Given the description of an element on the screen output the (x, y) to click on. 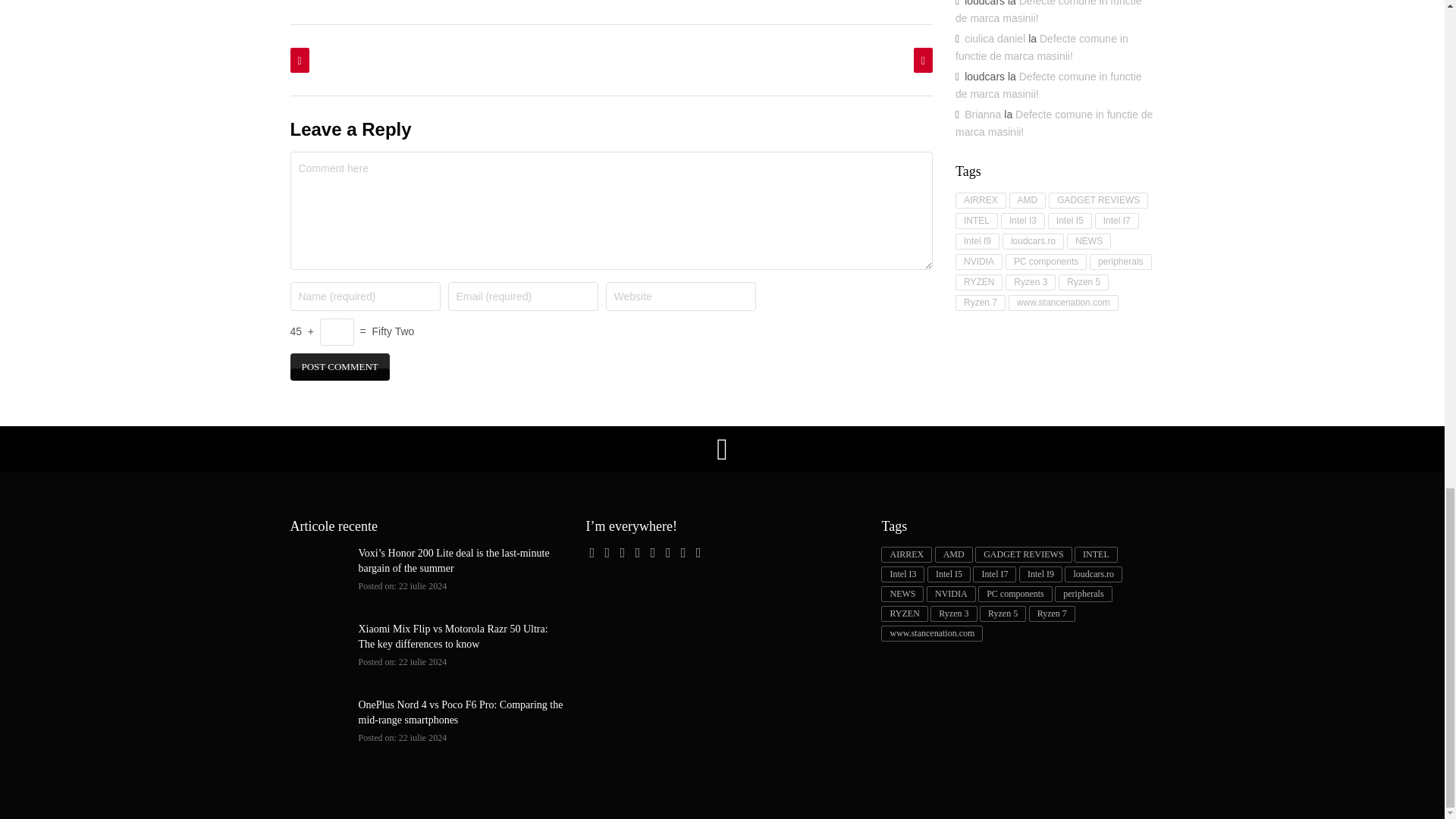
Post comment (338, 366)
